Given the description of an element on the screen output the (x, y) to click on. 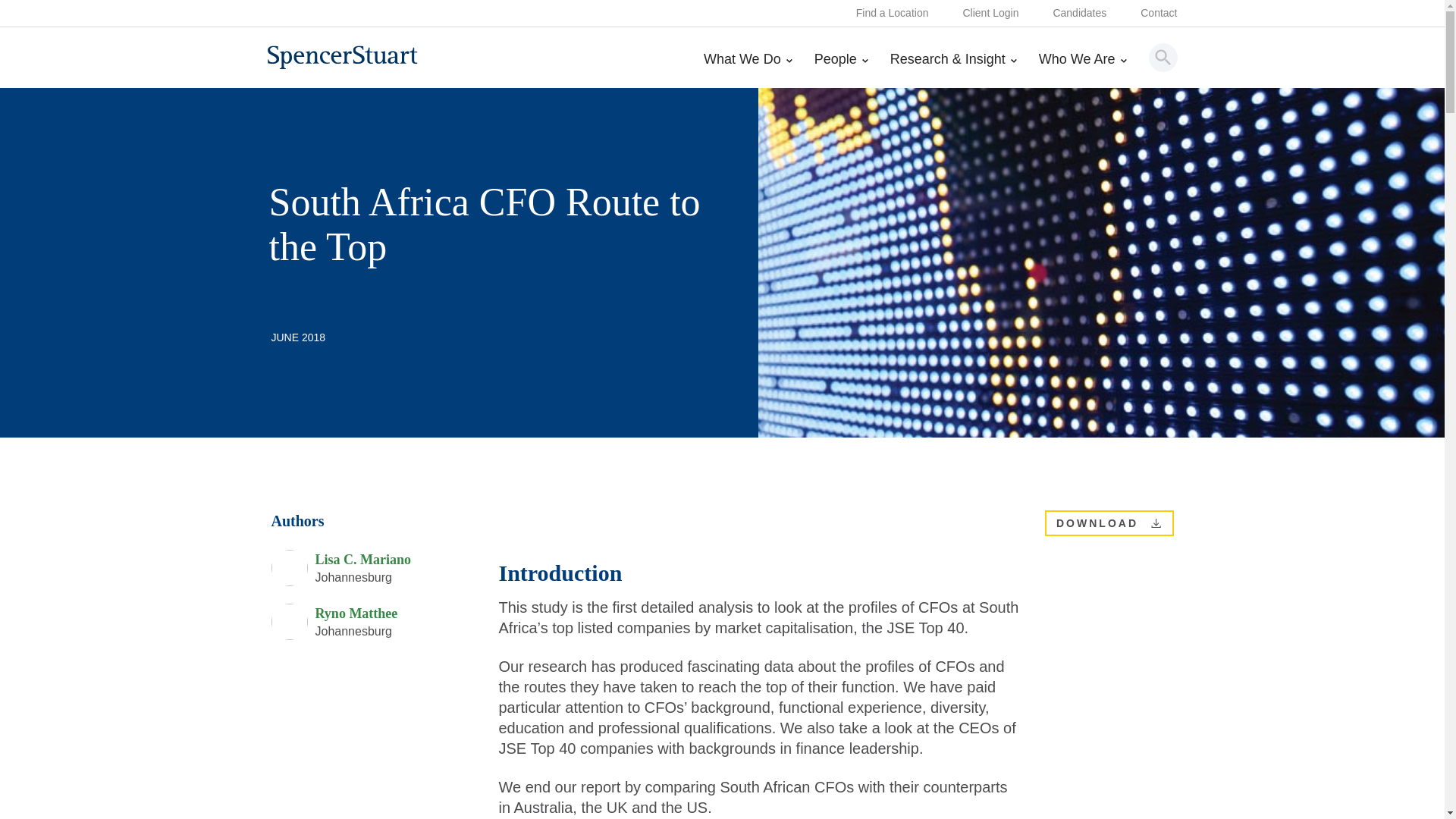
DOWNLOAD (1155, 522)
Contact (1158, 13)
Client Login (989, 13)
Candidates (1079, 13)
What We Do (747, 69)
Expand Search Bar (1163, 56)
Find a Location (892, 13)
